Given the description of an element on the screen output the (x, y) to click on. 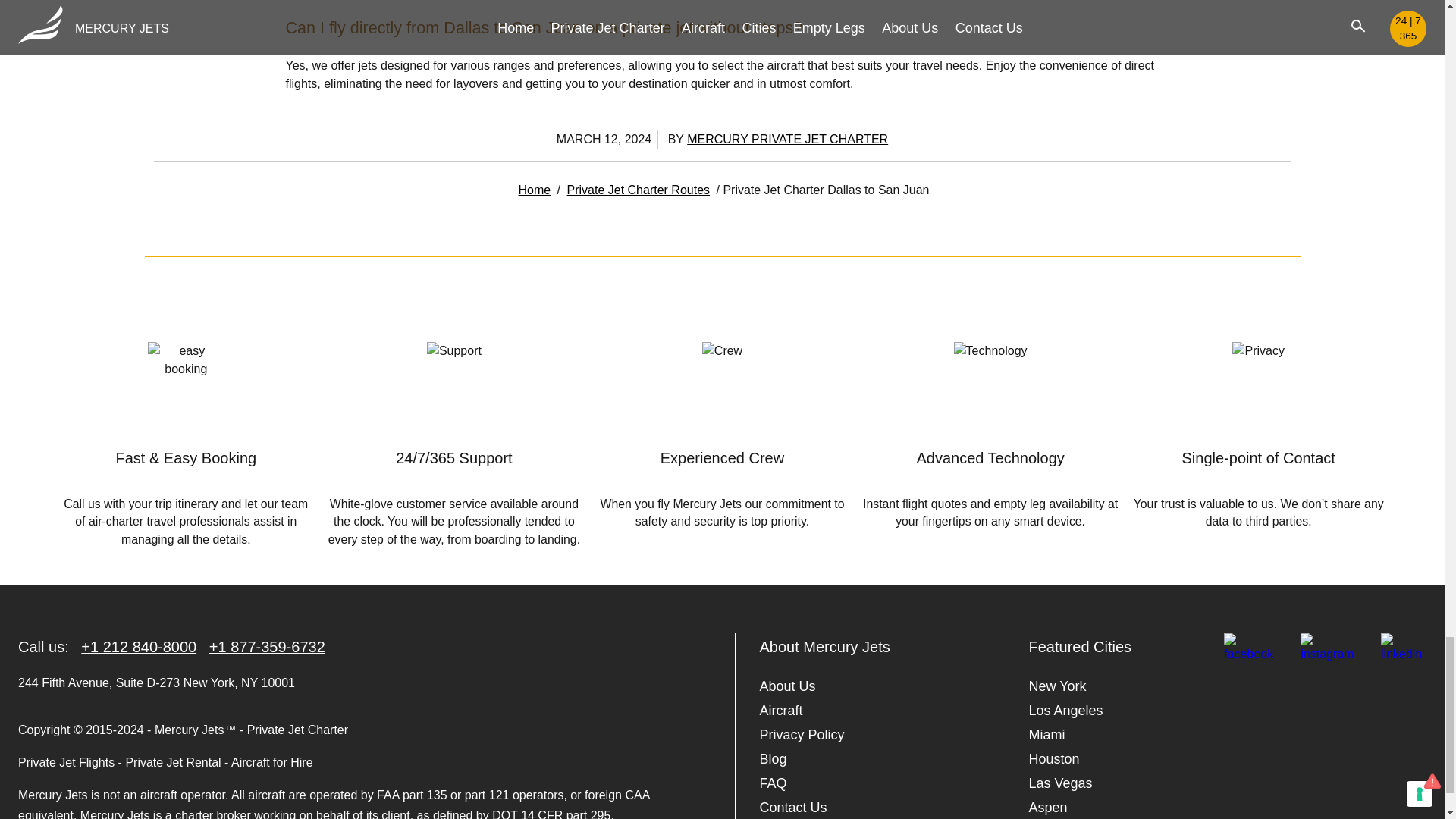
Home (534, 189)
Aircraft (781, 710)
Posts by Mercury Private Jet Charter (787, 138)
Private Jet Charter Routes (638, 189)
About Us (787, 686)
MERCURY PRIVATE JET CHARTER (787, 138)
